Given the description of an element on the screen output the (x, y) to click on. 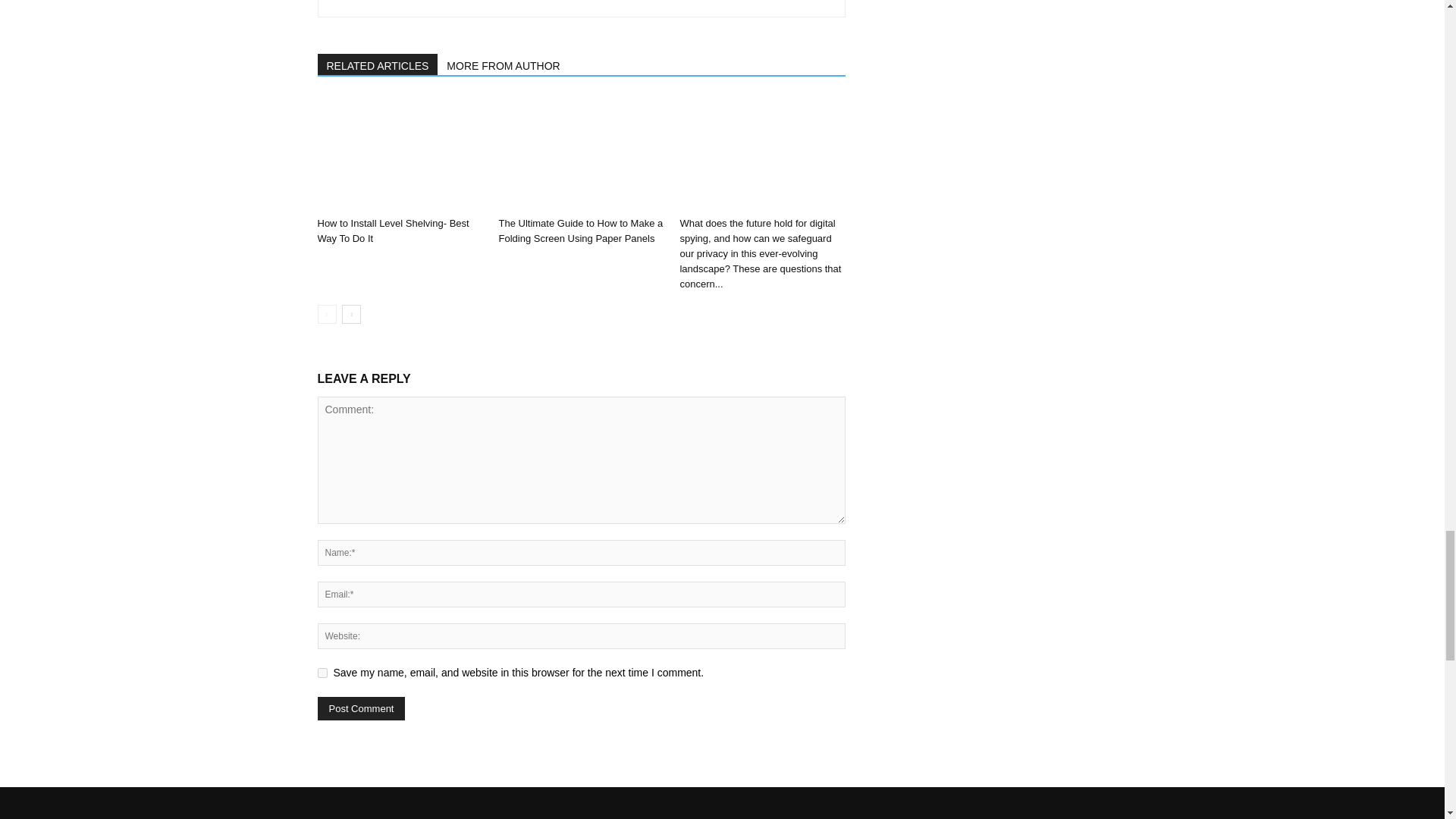
yes (321, 673)
Post Comment (360, 708)
